Given the description of an element on the screen output the (x, y) to click on. 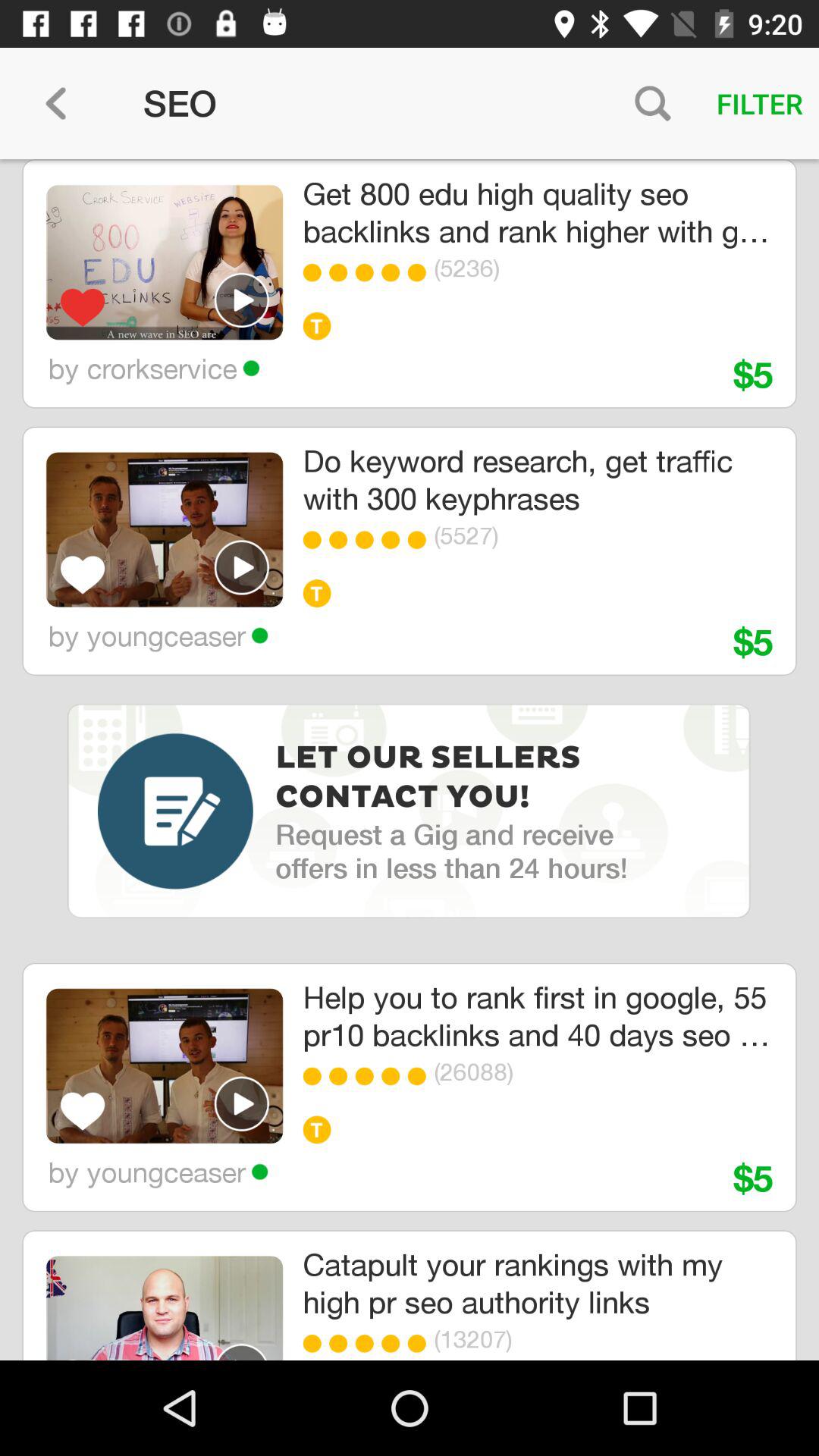
tap item above the do keyword research (368, 272)
